Given the description of an element on the screen output the (x, y) to click on. 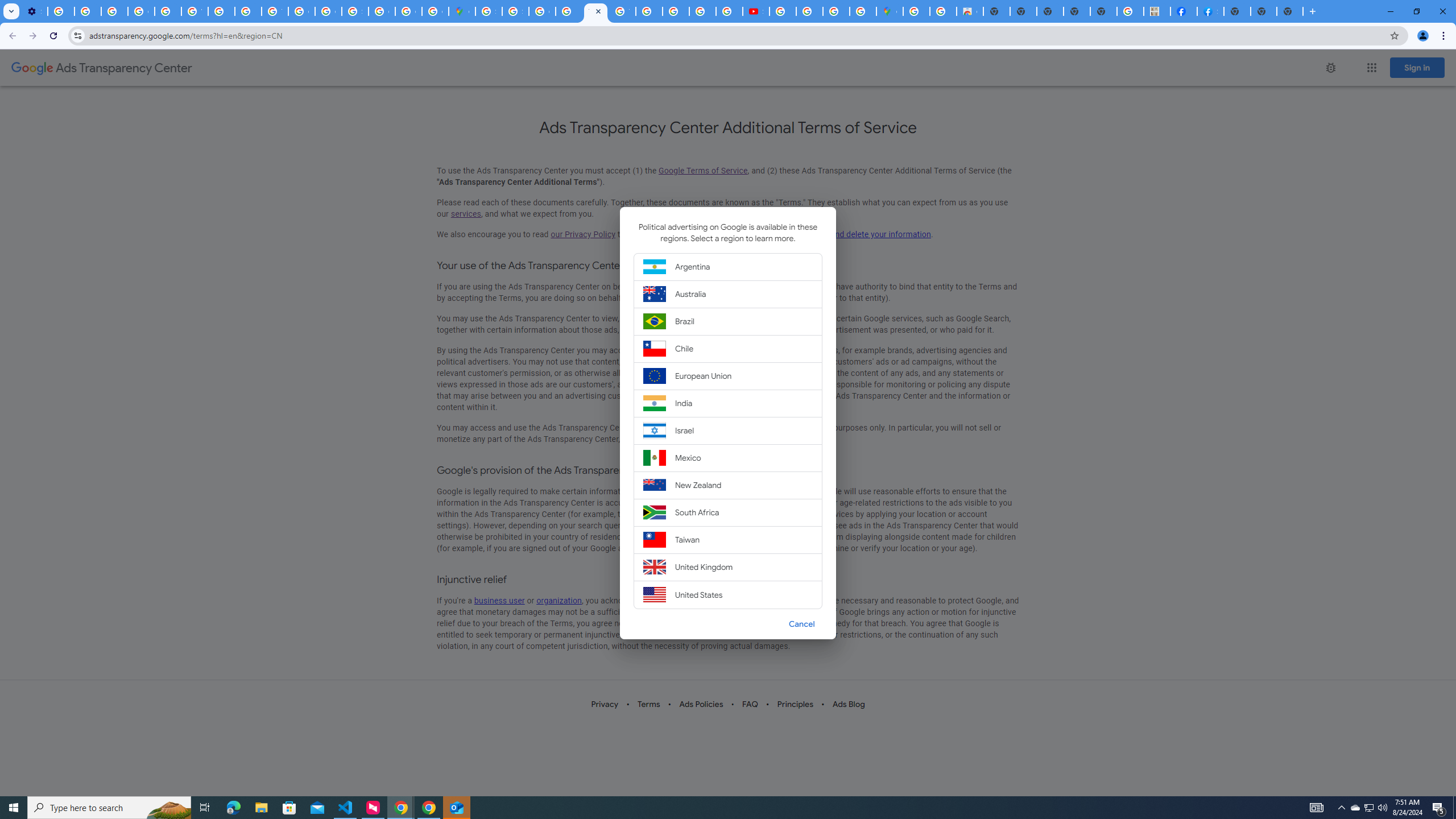
Argentina (727, 266)
Terms and Conditions (622, 11)
New Tab (1289, 11)
United States (727, 594)
https://scholar.google.com/ (221, 11)
MILEY CYRUS. (1156, 11)
New Zealand (727, 485)
Principles (795, 703)
FAQ (749, 703)
